Given the description of an element on the screen output the (x, y) to click on. 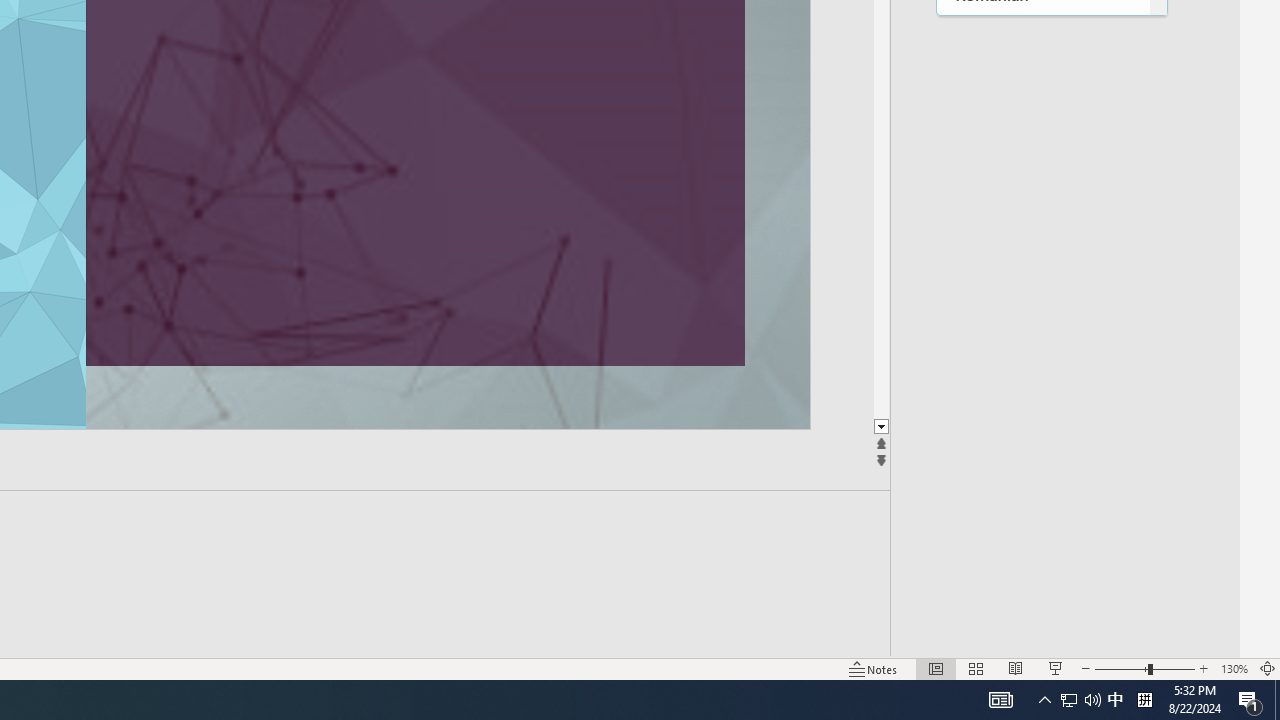
Zoom 130% (1234, 668)
Sesotho (1042, 238)
Serbian (Latin) (1042, 197)
Rundi (1042, 34)
Sesotho sa Leboa (1042, 279)
Shona (1042, 362)
Slovak (1042, 485)
Sinhala (1042, 444)
Setswana (1042, 321)
Slovenian (1042, 526)
Swahili (1042, 649)
